Given the description of an element on the screen output the (x, y) to click on. 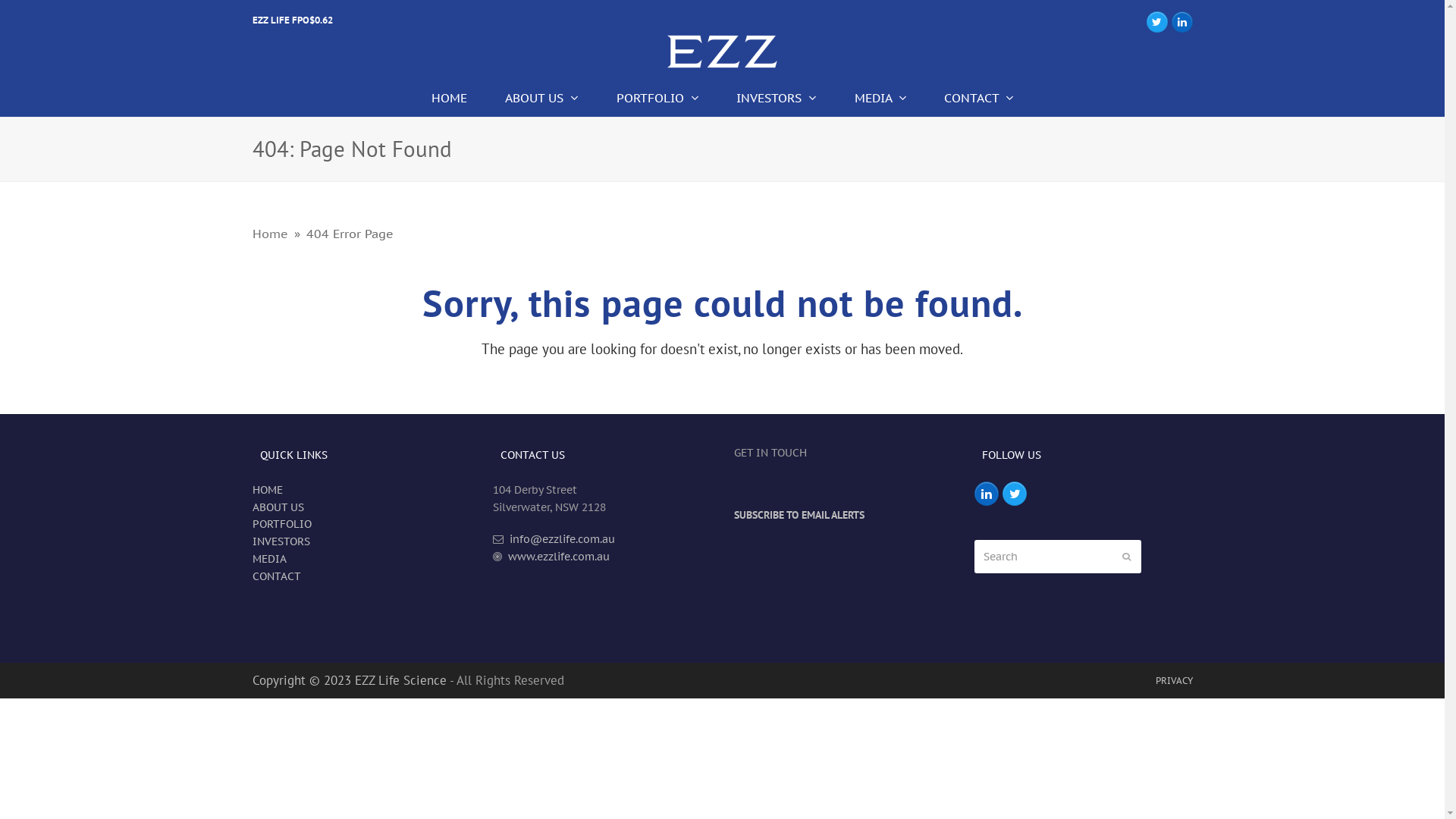
HOME Element type: text (449, 97)
Submit Element type: text (1126, 556)
LinkedIn Element type: text (1181, 21)
LinkedIn Element type: text (986, 493)
Twitter Element type: text (1156, 21)
Home Element type: text (269, 233)
SUBSCRIBE TO EMAIL ALERTS Element type: text (799, 514)
 www.ezzlife.com.au Element type: text (557, 556)
HOME Element type: text (266, 489)
MEDIA Element type: text (268, 558)
Twitter Element type: text (1014, 493)
INVESTORS Element type: text (775, 97)
CONTACT Element type: text (979, 97)
PORTFOLIO Element type: text (280, 523)
ABOUT US Element type: text (541, 97)
CONTACT Element type: text (275, 576)
PRIVACY Element type: text (1173, 680)
MEDIA Element type: text (880, 97)
PORTFOLIO Element type: text (657, 97)
INVESTORS Element type: text (280, 541)
 info@ezzlife.com.au Element type: text (560, 539)
ABOUT US Element type: text (277, 507)
